Given the description of an element on the screen output the (x, y) to click on. 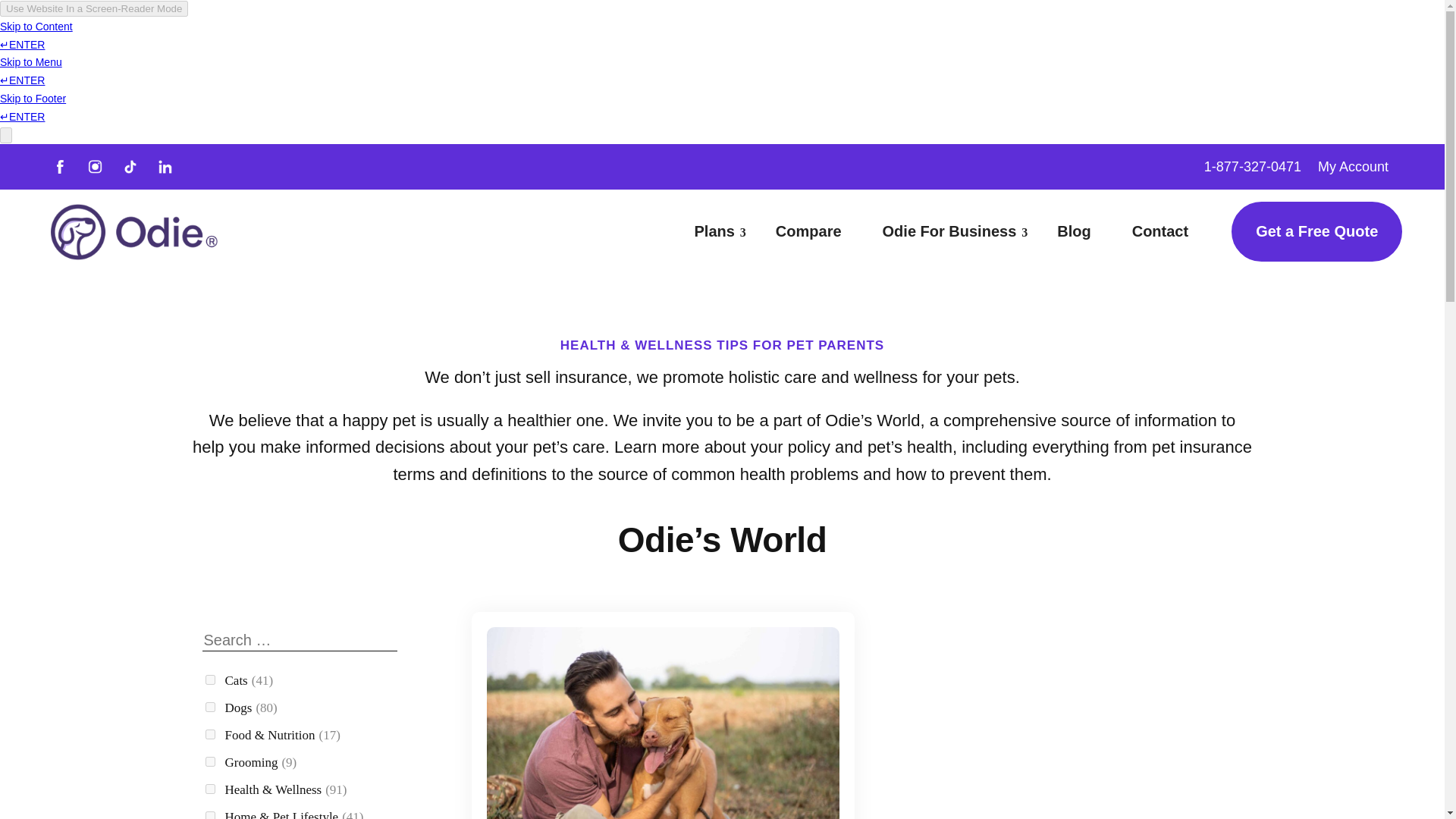
1-877-327-0471 (1252, 169)
home-lifestyle (209, 815)
nutrition (209, 734)
fb-logo (59, 166)
Get a Free Quote (1316, 231)
Odie For Business (948, 231)
dogs (209, 706)
My Account (1353, 169)
linkedin-logo (164, 166)
Plans (713, 231)
Blog (1073, 231)
cats (209, 679)
insta-logo (94, 166)
health-wellness (209, 788)
grooming (209, 761)
